Given the description of an element on the screen output the (x, y) to click on. 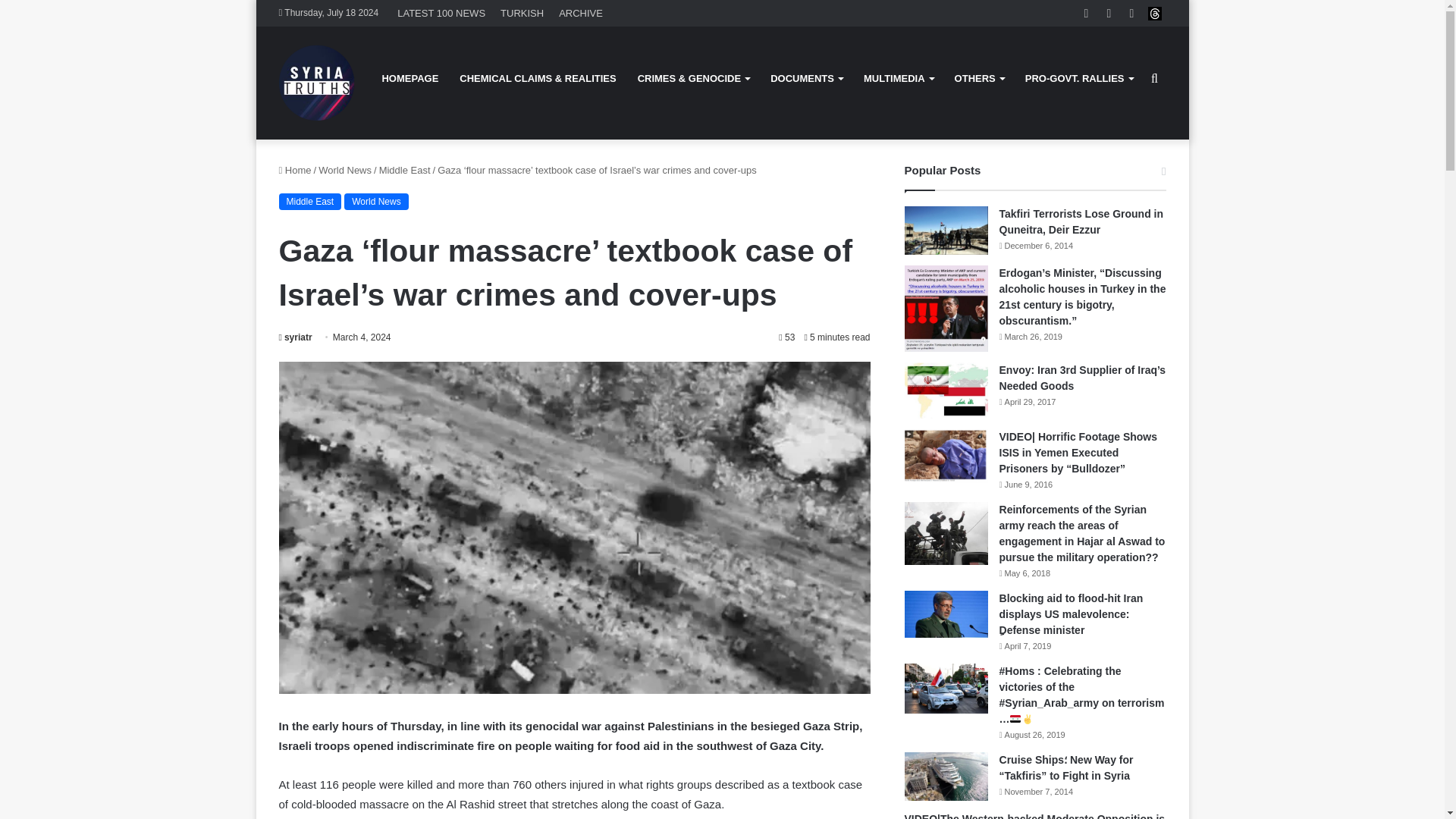
ARCHIVE (580, 13)
PRO-GOVT. RALLIES (1078, 78)
syriatr (296, 337)
TURKISH (522, 13)
Home (295, 170)
LATEST 100 NEWS (441, 13)
